Given the description of an element on the screen output the (x, y) to click on. 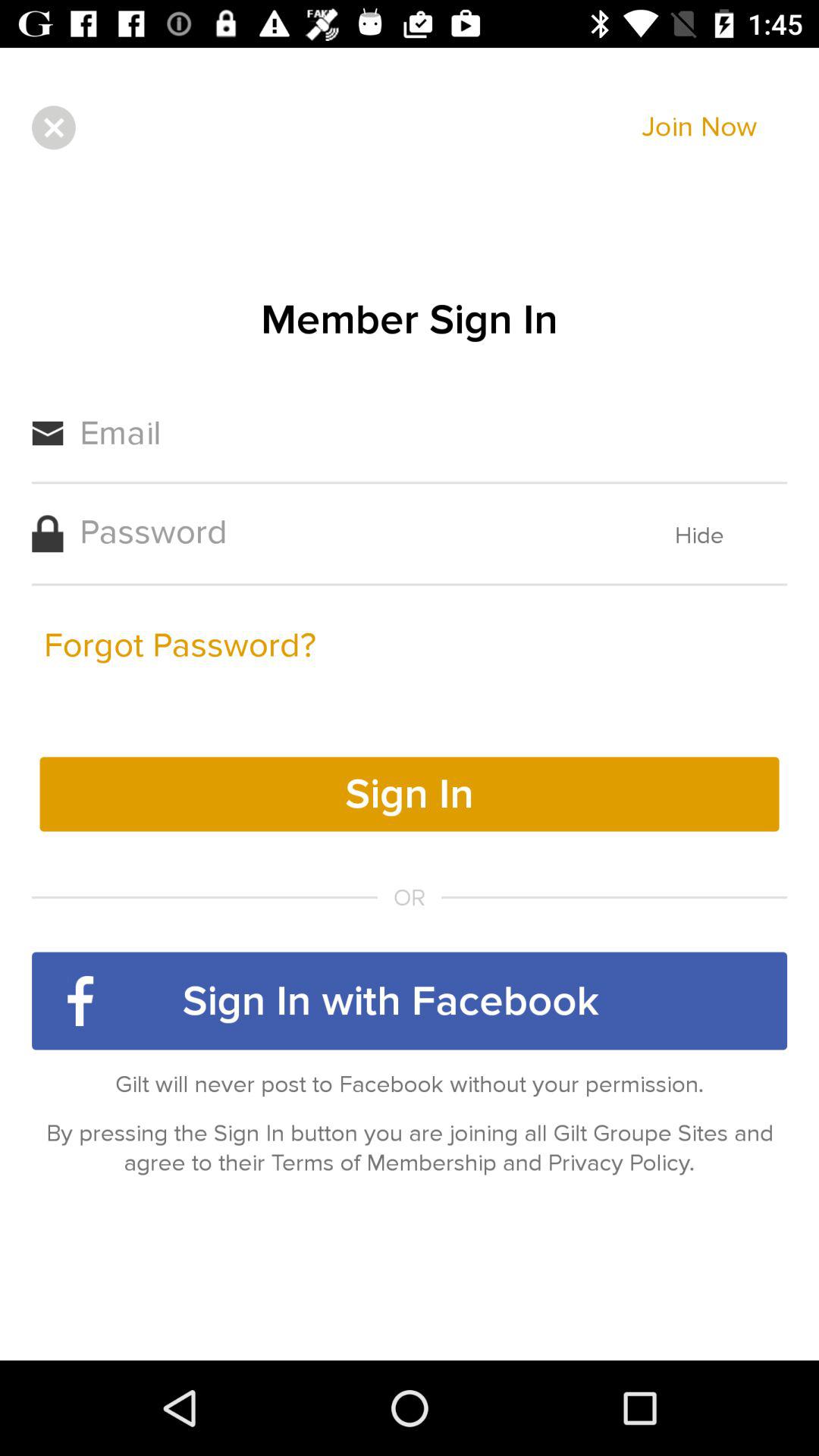
press the item to the left of the hide item (179, 645)
